Given the description of an element on the screen output the (x, y) to click on. 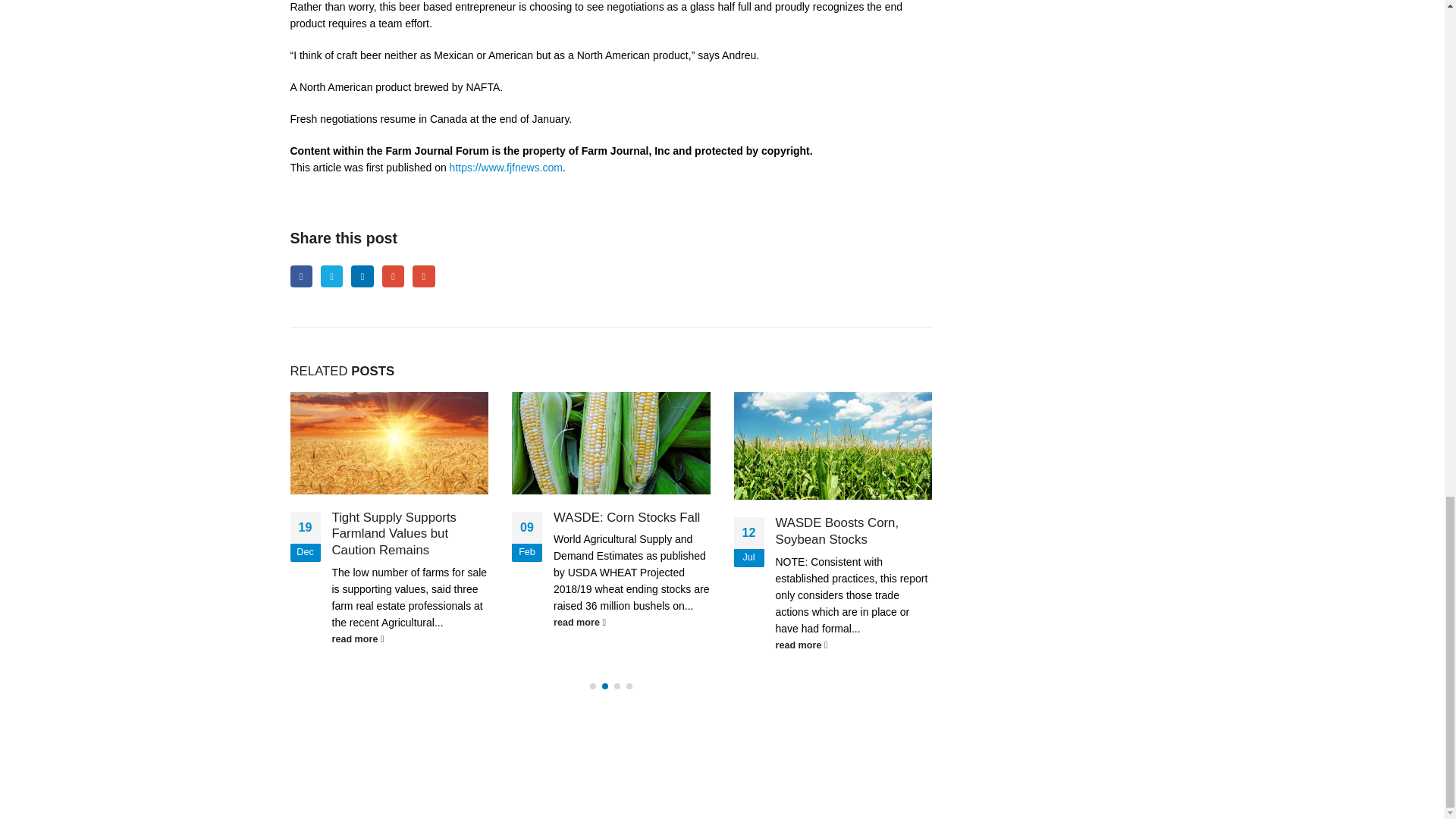
 - AG News (319, 779)
Email (422, 276)
LinkedIn (361, 276)
Twitter (331, 276)
Facebook (300, 276)
